Given the description of an element on the screen output the (x, y) to click on. 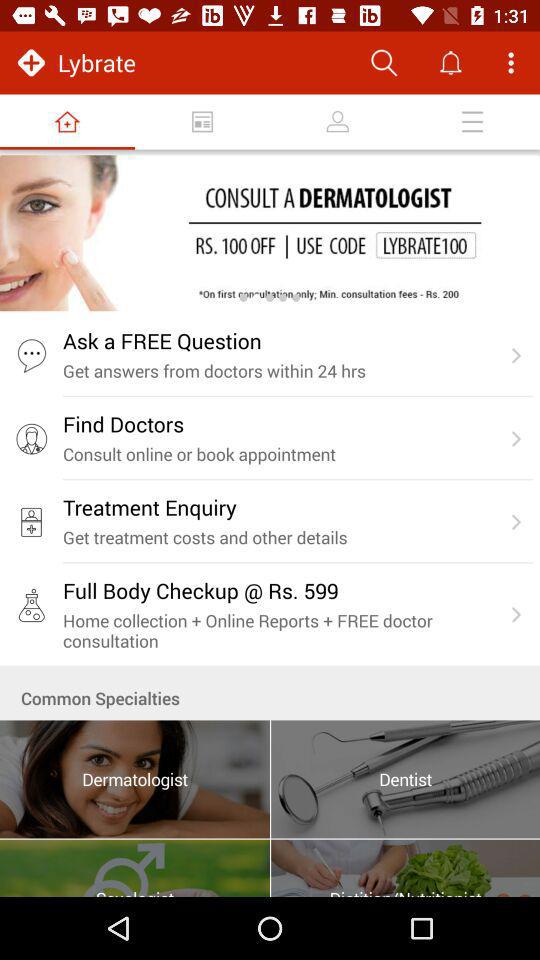
open advertisement (270, 233)
